Given the description of an element on the screen output the (x, y) to click on. 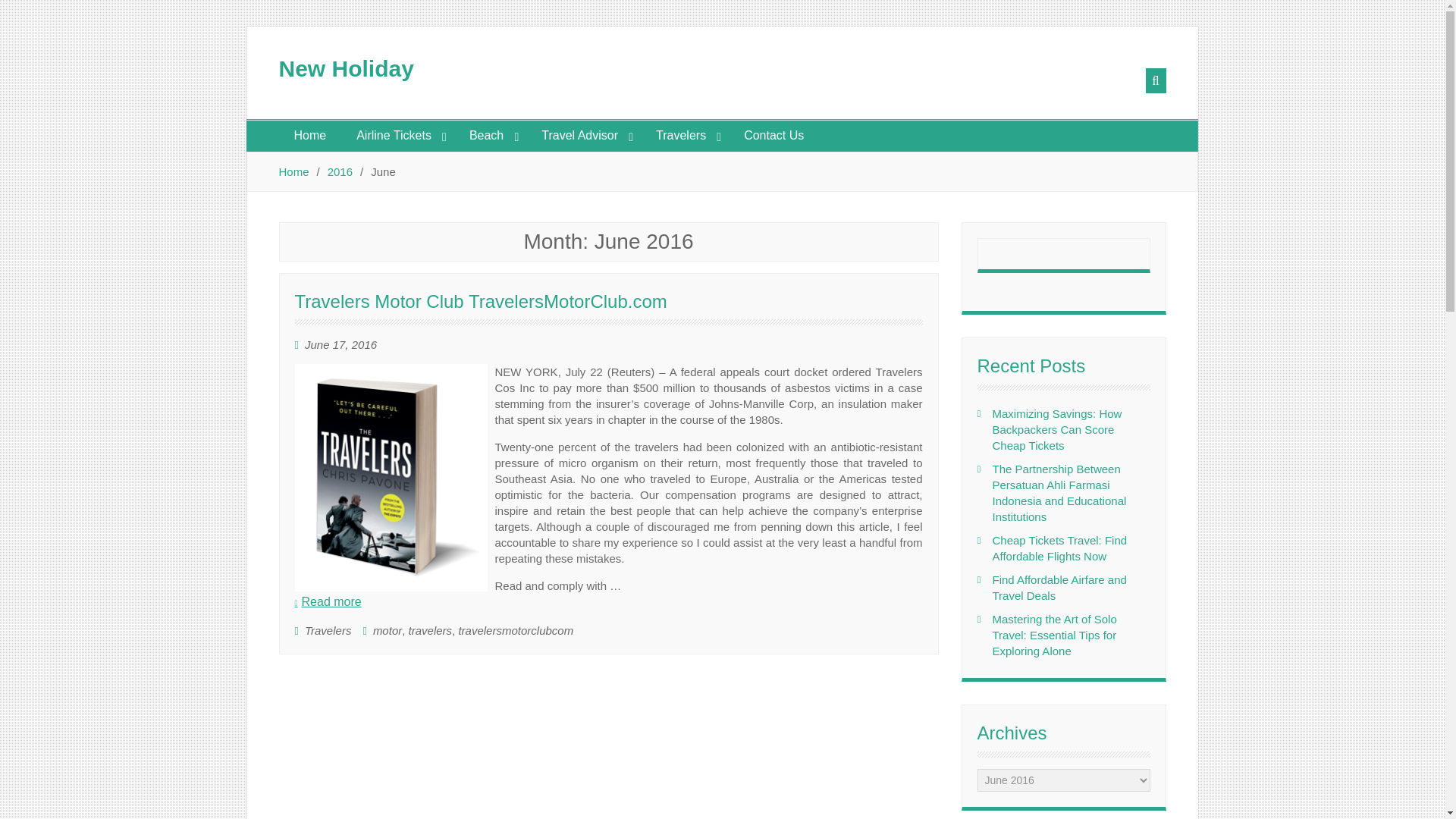
Airline Tickets (397, 135)
New Holiday (346, 68)
Home (310, 135)
Beach (489, 135)
